Given the description of an element on the screen output the (x, y) to click on. 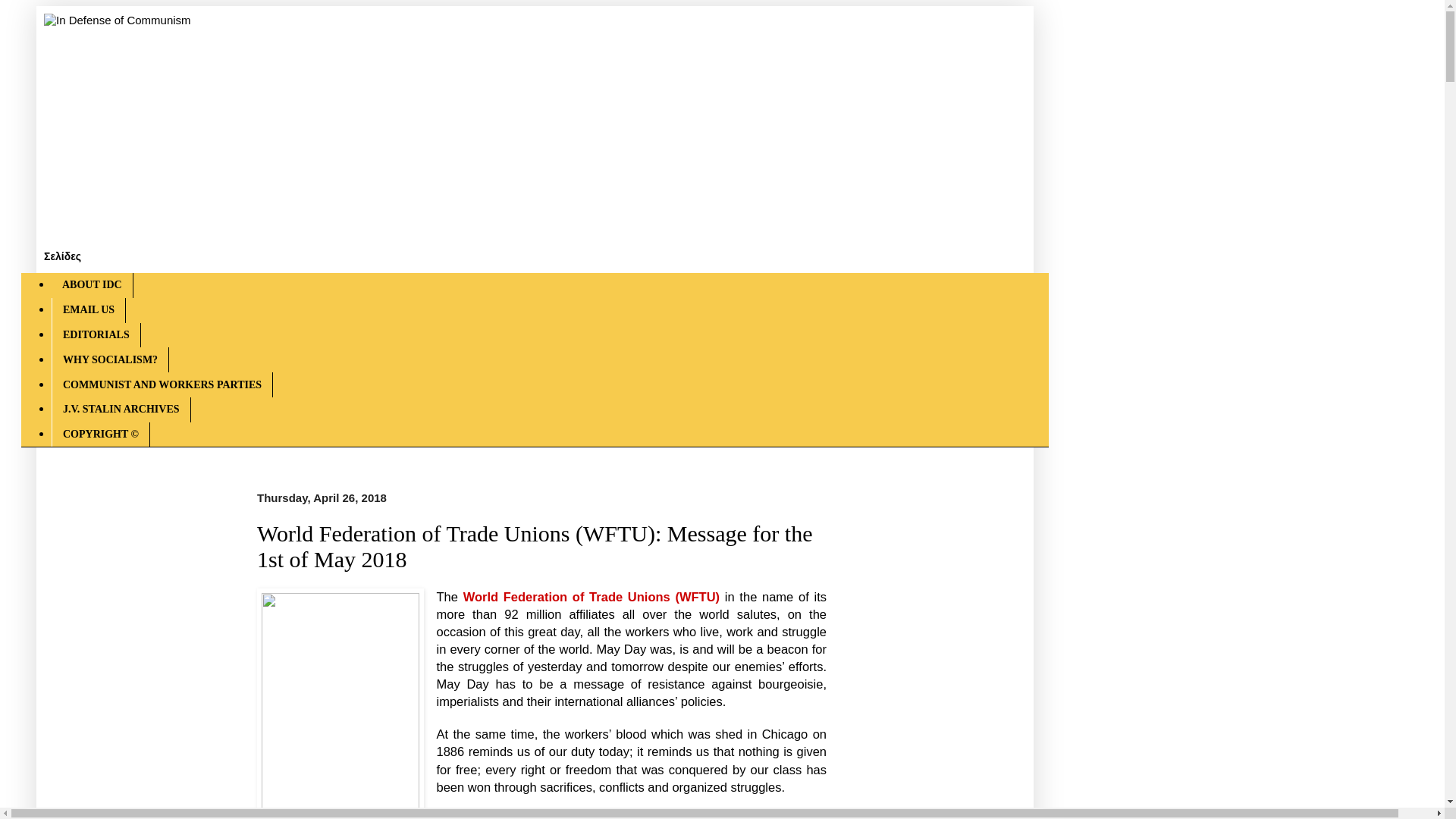
ABOUT IDC (91, 285)
J.V. STALIN ARCHIVES (120, 409)
EDITORIALS (95, 335)
EMAIL US (87, 310)
COMMUNIST AND WORKERS PARTIES (161, 384)
WHY SOCIALISM? (109, 359)
